Given the description of an element on the screen output the (x, y) to click on. 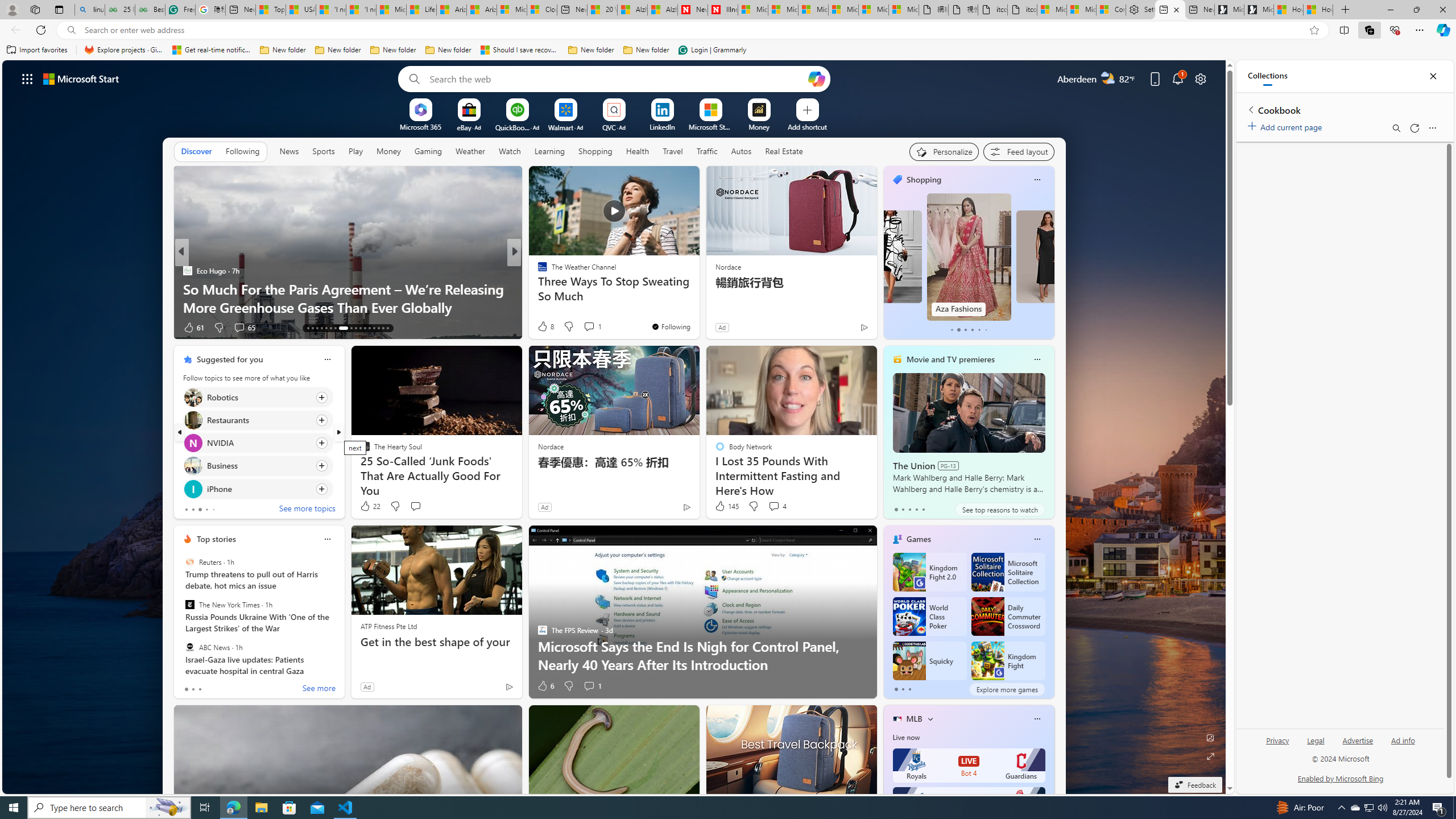
Best SSL Certificates Provider in India - GeeksforGeeks (149, 9)
How to Use a Monitor With Your Closed Laptop (697, 307)
Add current page (1286, 124)
Add a site (807, 126)
AutomationID: tab-29 (387, 328)
ABC News (189, 646)
22 Like (368, 505)
Login | Grammarly (712, 49)
Top stories (215, 538)
AutomationID: tab-26 (374, 328)
